Given the description of an element on the screen output the (x, y) to click on. 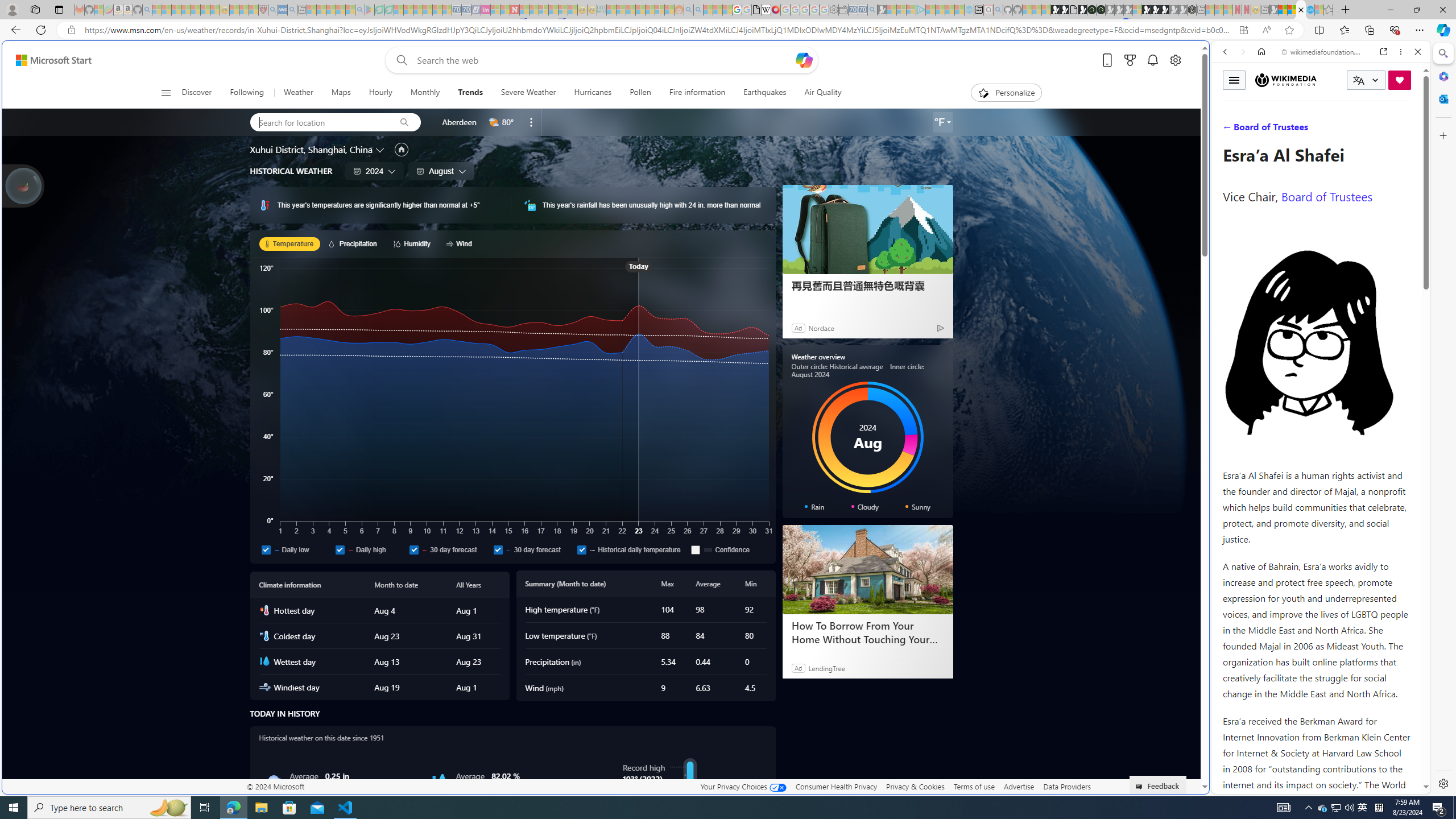
Maps (340, 92)
Air Quality (822, 92)
